Given the description of an element on the screen output the (x, y) to click on. 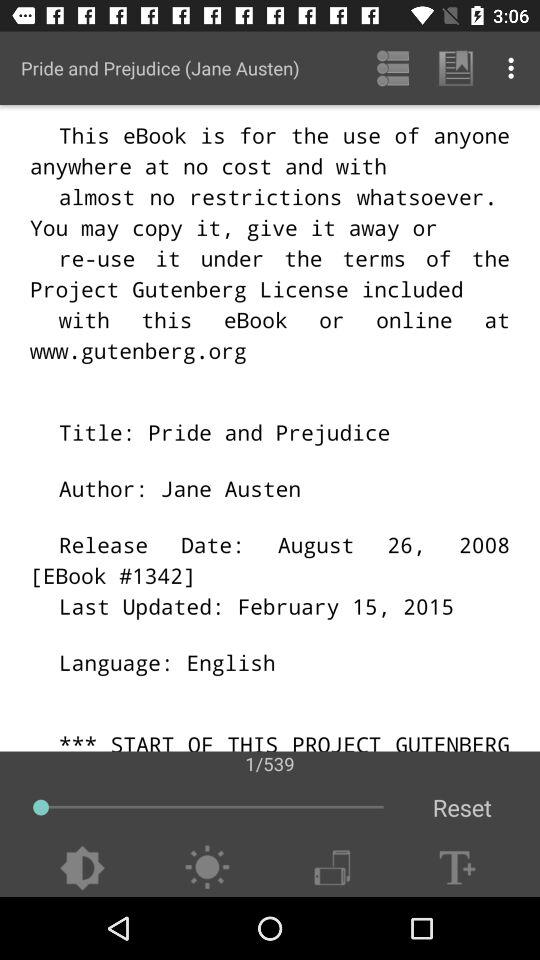
choose the icon next to pride and prejudice app (392, 67)
